Given the description of an element on the screen output the (x, y) to click on. 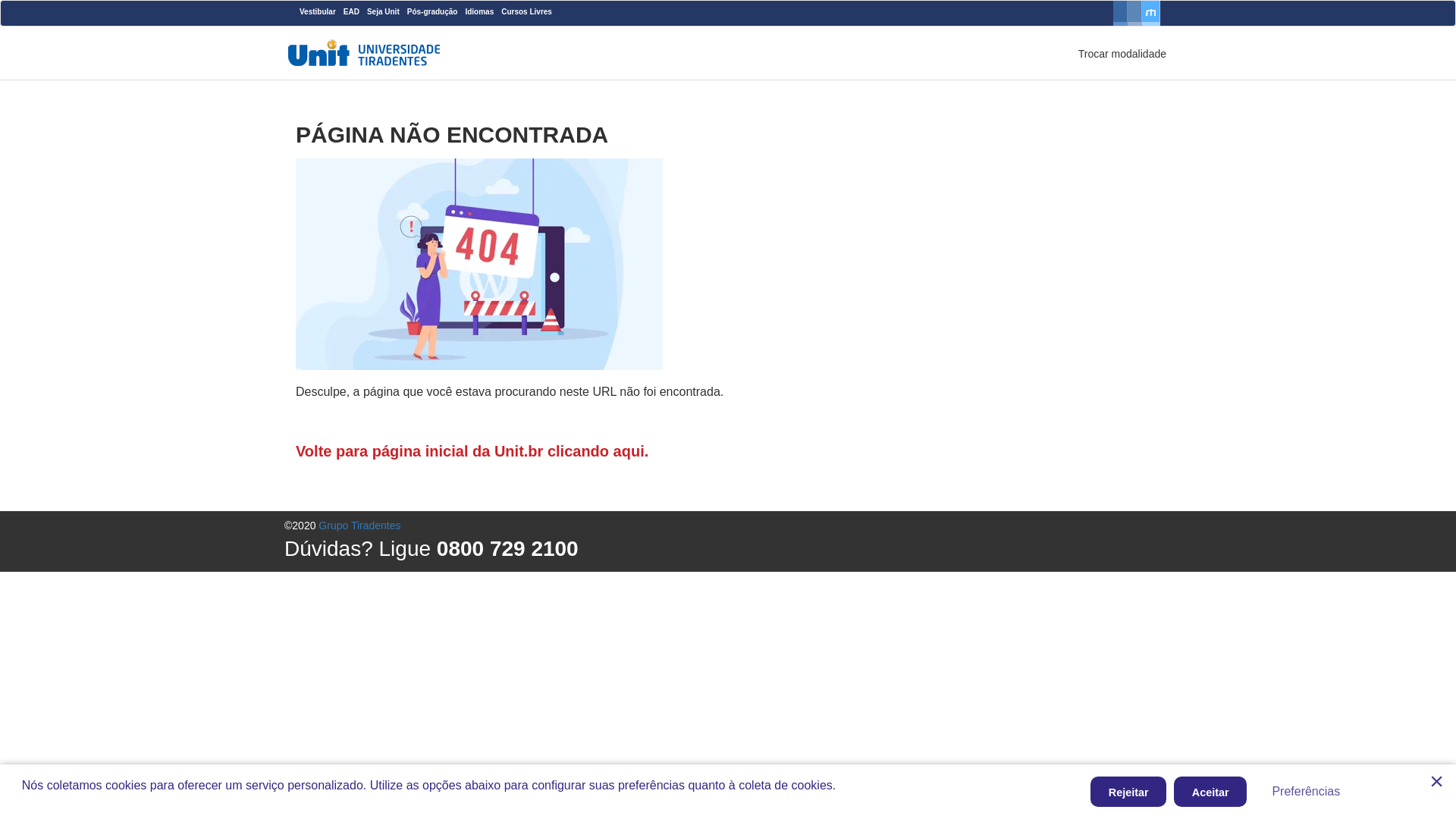
Idiomas Element type: text (479, 10)
Trocar modalidade Element type: text (1122, 53)
Cursos Livres Element type: text (526, 10)
Aceitar Element type: text (1209, 791)
Grupo Tiradentes Element type: text (359, 525)
EAD Element type: text (351, 10)
Universidade Tiradentes Element type: hover (363, 52)
Seja Unit Element type: text (383, 10)
Vestibular Element type: text (317, 10)
Rejeitar Element type: text (1128, 791)
